Given the description of an element on the screen output the (x, y) to click on. 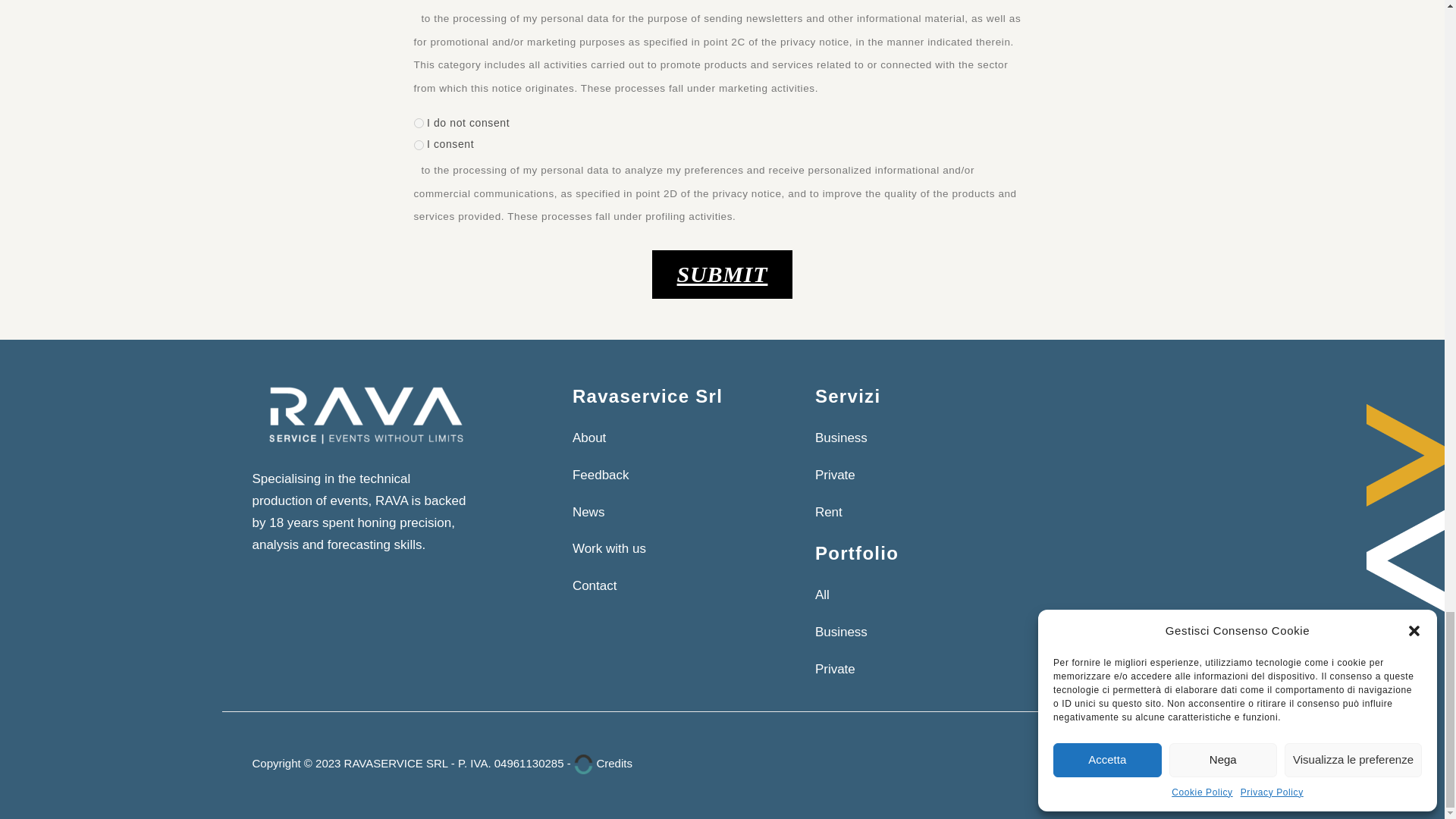
Submit (722, 274)
I do not consent (418, 122)
I consent (418, 144)
